Given the description of an element on the screen output the (x, y) to click on. 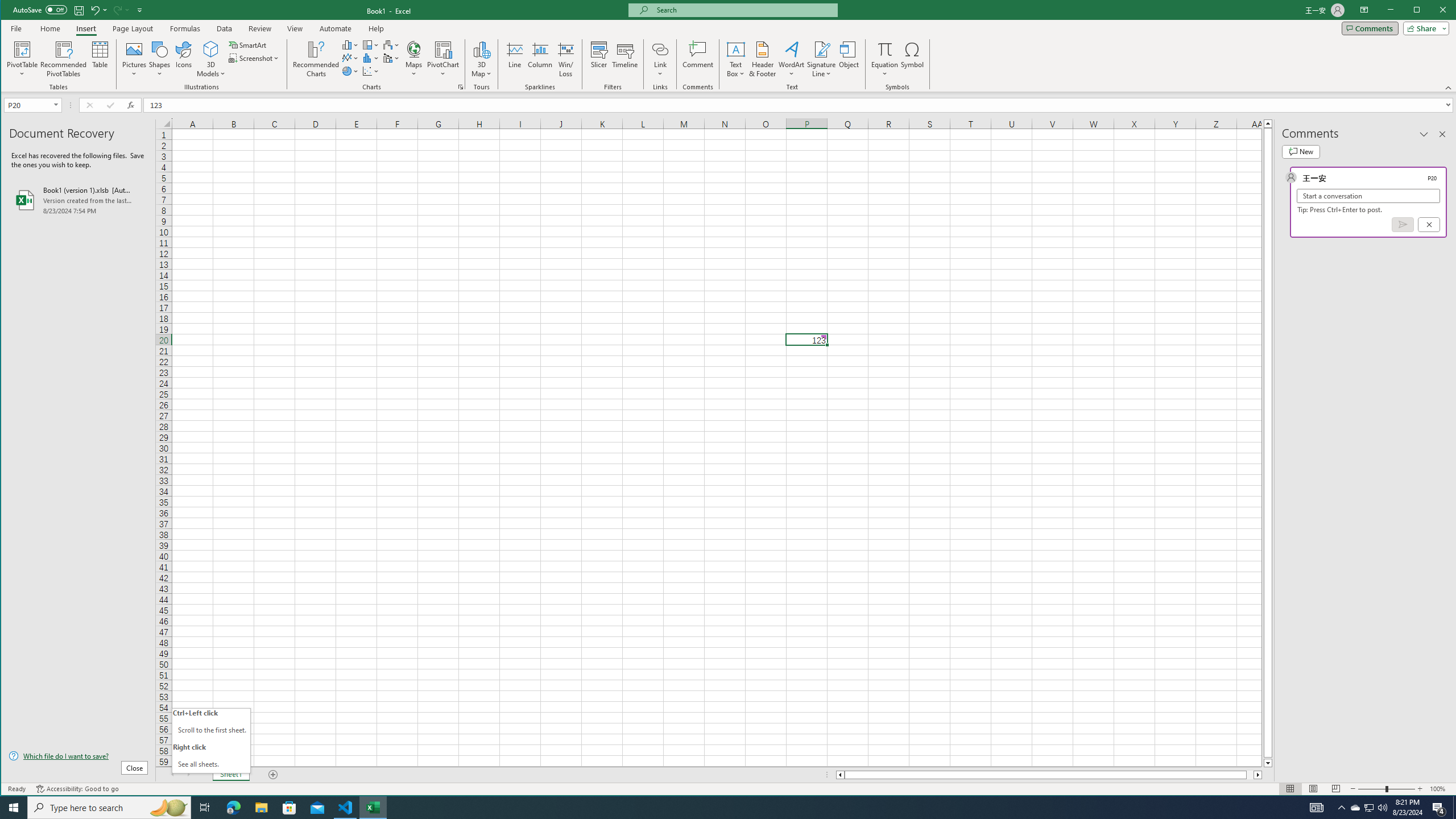
Q2790: 100% (1382, 807)
Visual Studio Code - 1 running window (345, 807)
Text Box (735, 59)
Notification Chevron (1341, 807)
Object... (848, 59)
